Given the description of an element on the screen output the (x, y) to click on. 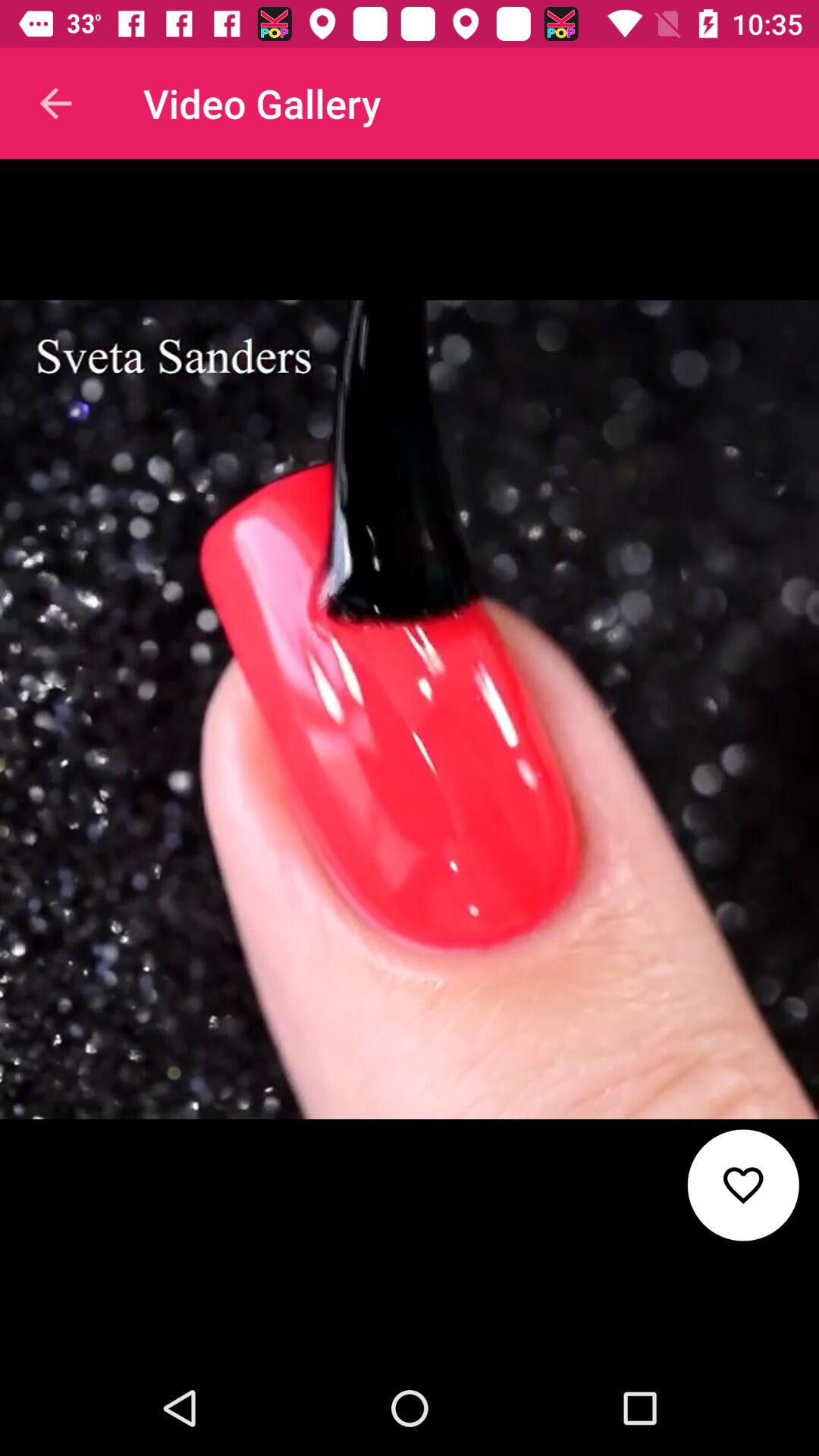
mark as favorite (743, 1185)
